Given the description of an element on the screen output the (x, y) to click on. 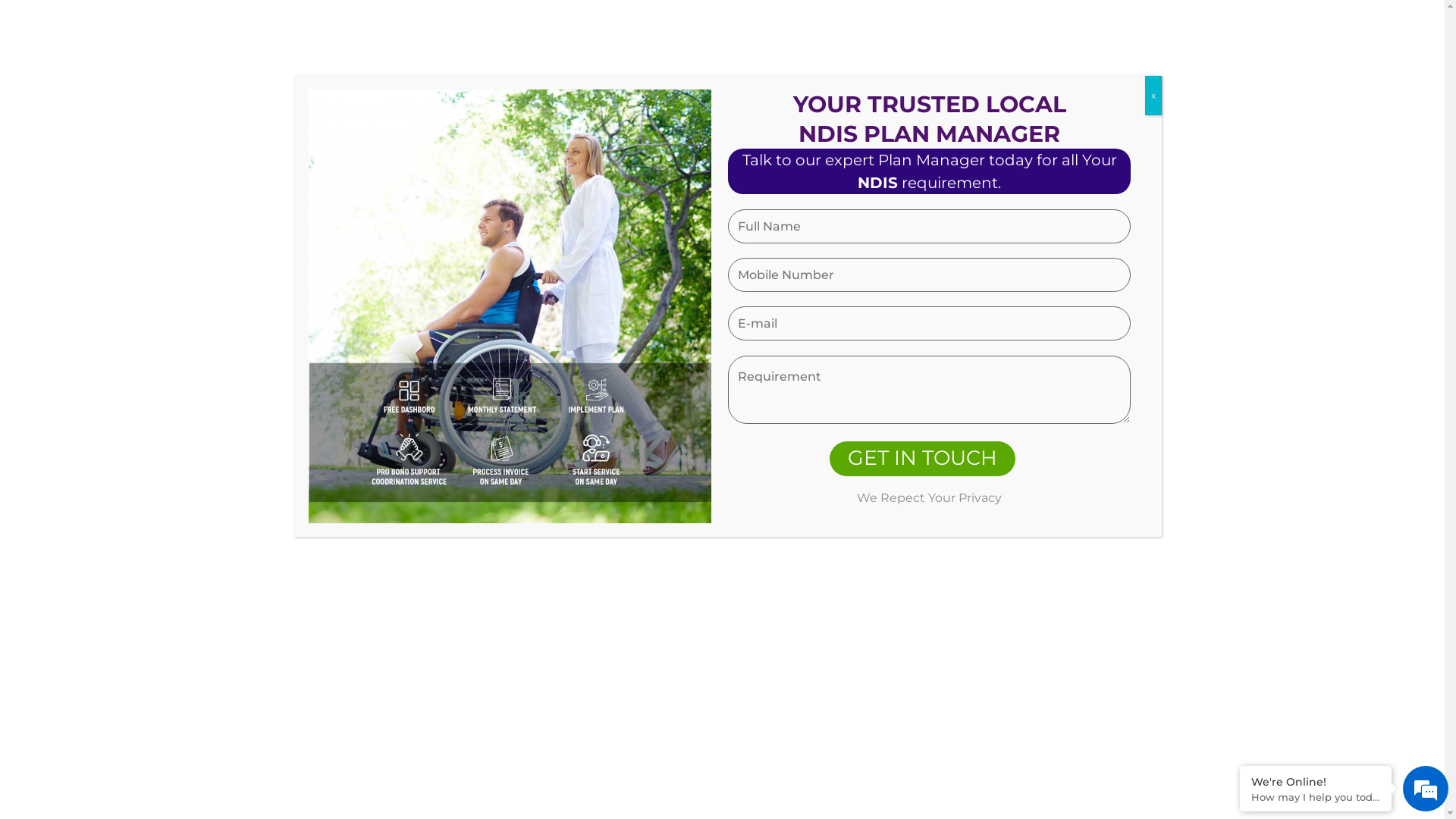
Download File Element type: text (722, 667)
1300 514 229 Element type: text (215, 18)
ABOUT US Element type: text (626, 77)
SIGN UP Element type: text (1115, 77)
GET IN TOUCH Element type: text (922, 458)
Download File Element type: text (439, 639)
x Element type: text (1153, 95)
REFER A CLIENT Element type: text (1021, 77)
0478 630 313 Element type: text (293, 18)
info@mcpm.net.au Element type: text (1364, 18)
NDIS PLAN MANAGEMENT Element type: text (759, 77)
Download File Element type: text (1005, 453)
Download File Element type: text (722, 453)
HOME Element type: text (557, 77)
RESOURCES Element type: text (906, 77)
ENGLISH Element type: text (1335, 75)
Download File Element type: text (1005, 667)
GET IN TOUCH Element type: text (1203, 78)
Client Portal Element type: text (1226, 18)
Download File Element type: text (439, 453)
